Given the description of an element on the screen output the (x, y) to click on. 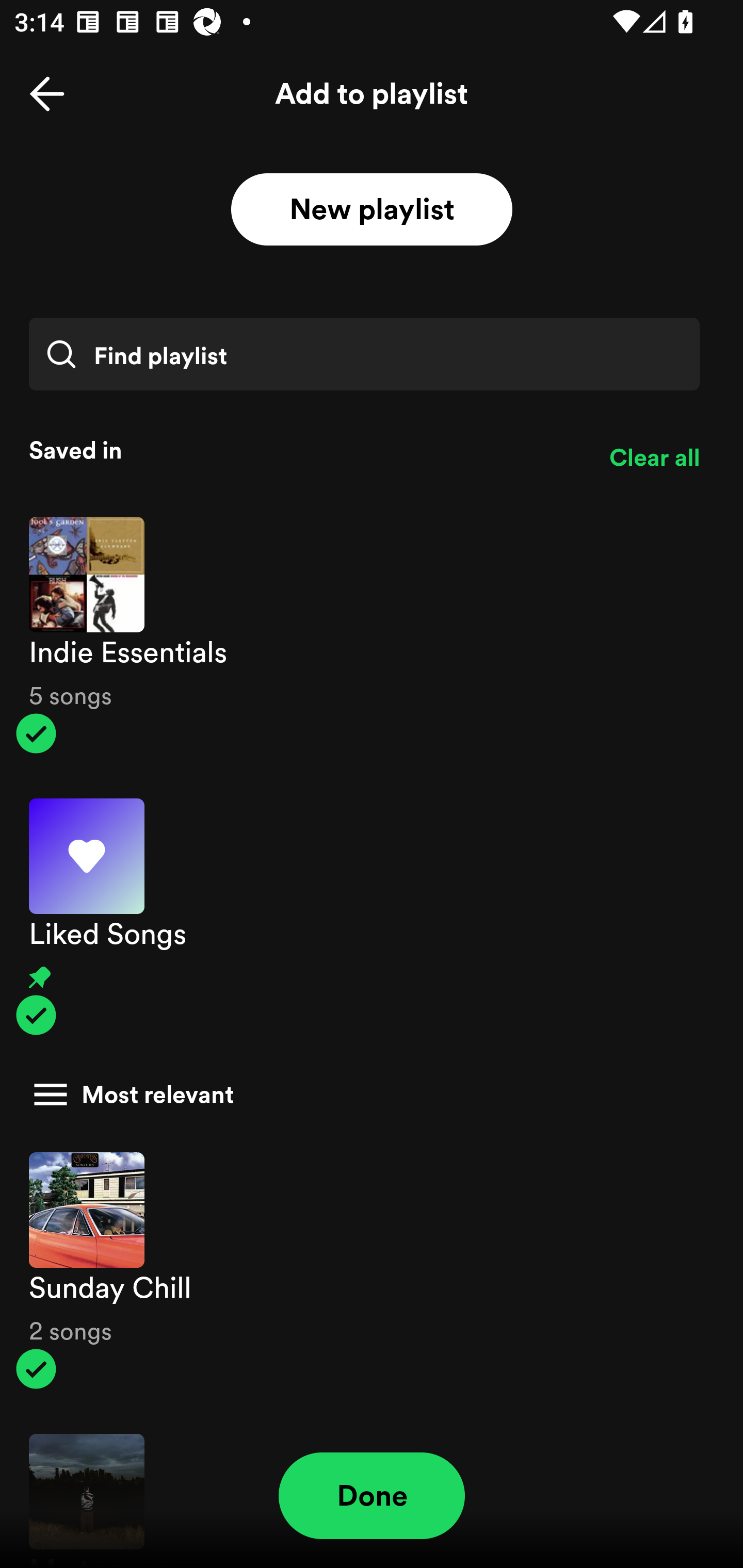
Back (46, 93)
New playlist (371, 210)
Find playlist (363, 354)
Saved in (304, 449)
Clear all (654, 457)
Indie Essentials 5 songs (371, 635)
Liked Songs Pinned (371, 917)
Most relevant (363, 1094)
Sunday Chill 2 songs (371, 1271)
My top songs (371, 1490)
Done (371, 1495)
